Given the description of an element on the screen output the (x, y) to click on. 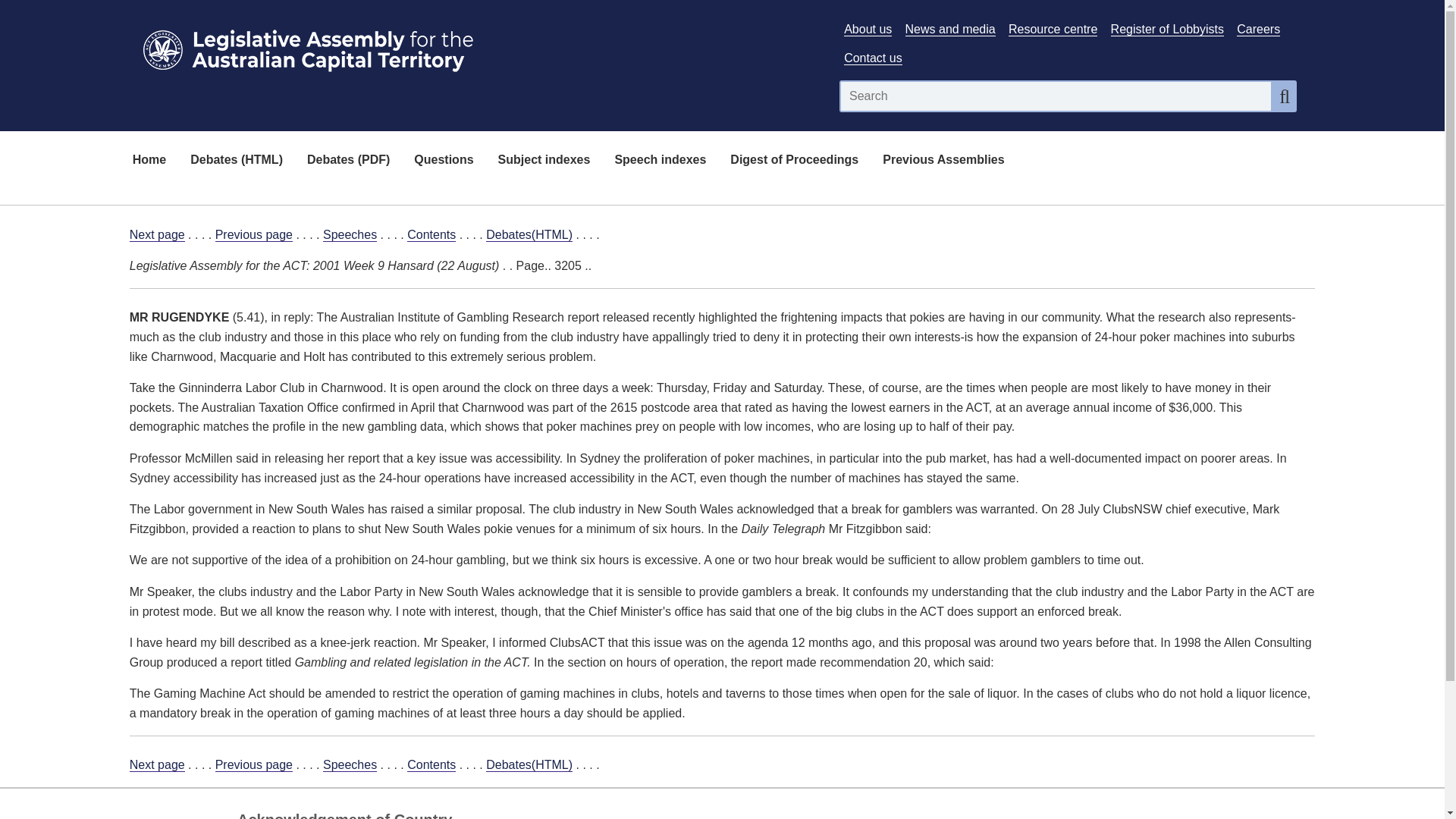
Digest of Proceedings (793, 160)
Link to Homepage (475, 46)
Register of Lobbyists (1167, 29)
Previous page (253, 234)
Link to Resource centre (1053, 29)
Contact us (872, 58)
Next page (156, 234)
Link to Careers (1257, 29)
Careers (1257, 29)
Home (148, 160)
Link to News and media (950, 29)
News and media (950, 29)
Speech indexes (659, 160)
Next page (156, 765)
Link to Contact Us (872, 58)
